Given the description of an element on the screen output the (x, y) to click on. 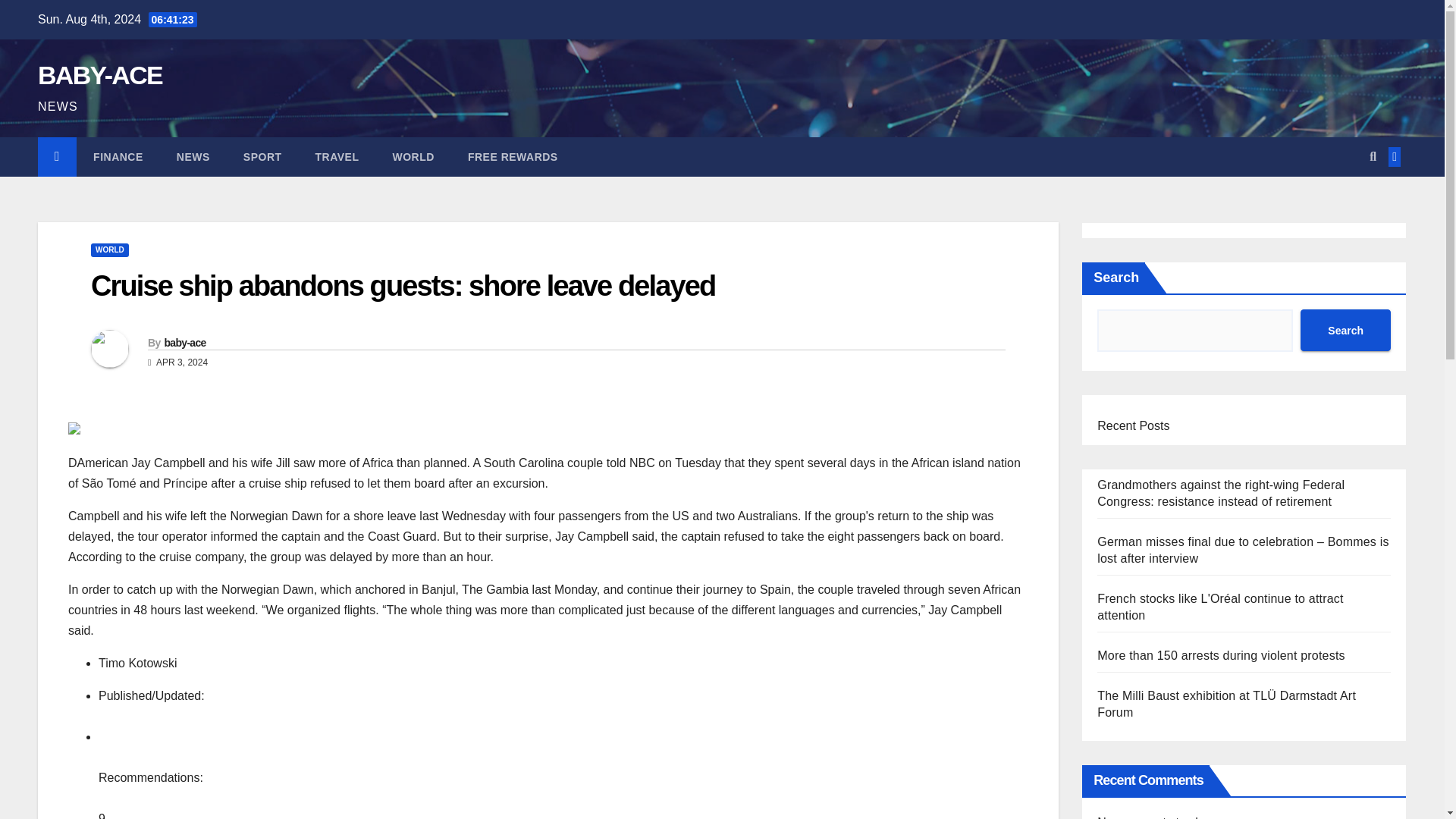
WORLD (109, 250)
SPORT (262, 156)
FINANCE (118, 156)
Cruise ship abandons guests: shore leave delayed (402, 286)
WORLD (413, 156)
TRAVEL (336, 156)
WORLD (413, 156)
NEWS (193, 156)
SPORT (262, 156)
BABY-ACE (99, 74)
TRAVEL (336, 156)
FREE REWARDS (513, 156)
NEWS (193, 156)
baby-ace (184, 342)
